Given the description of an element on the screen output the (x, y) to click on. 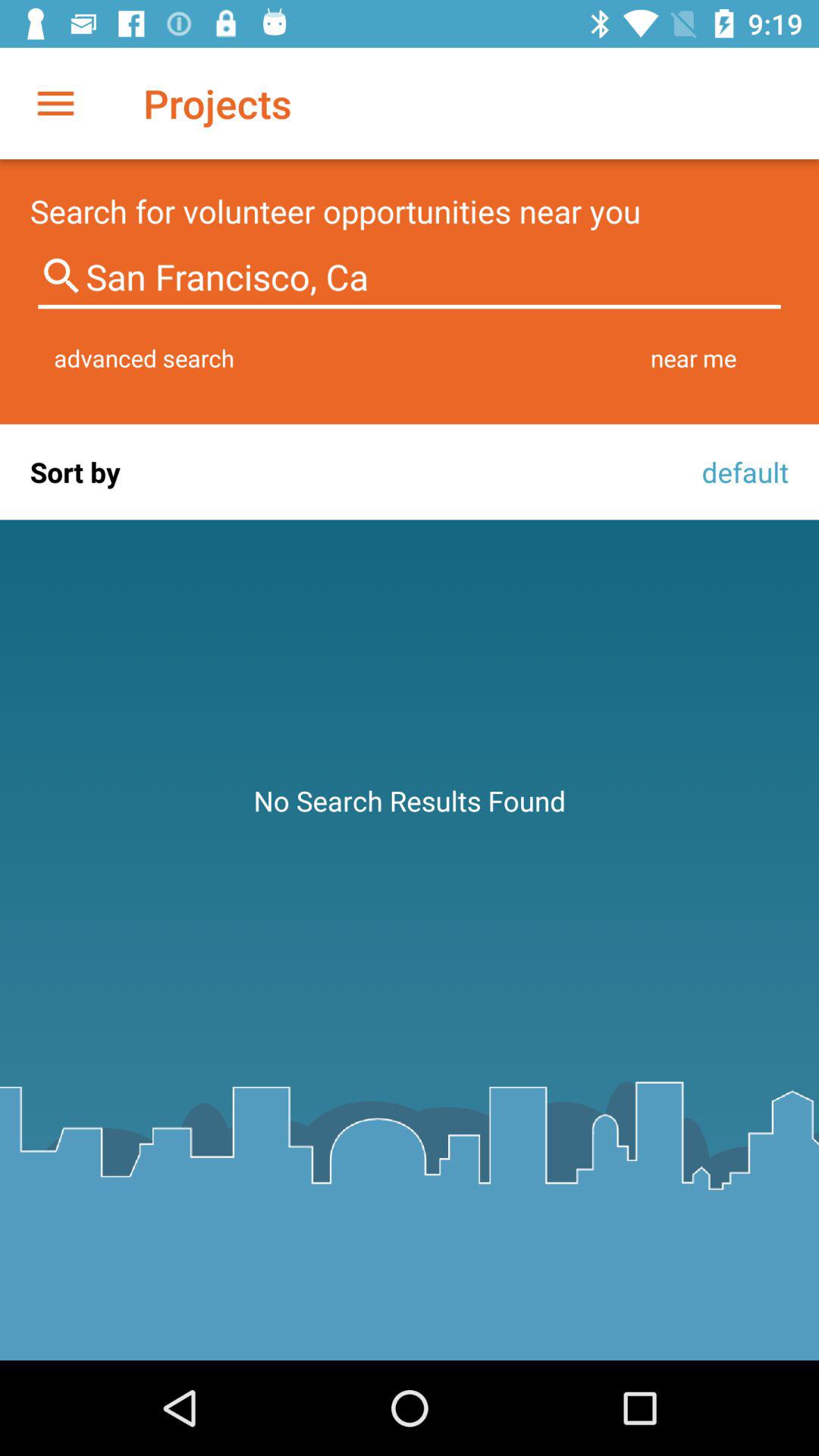
menu (55, 103)
